Given the description of an element on the screen output the (x, y) to click on. 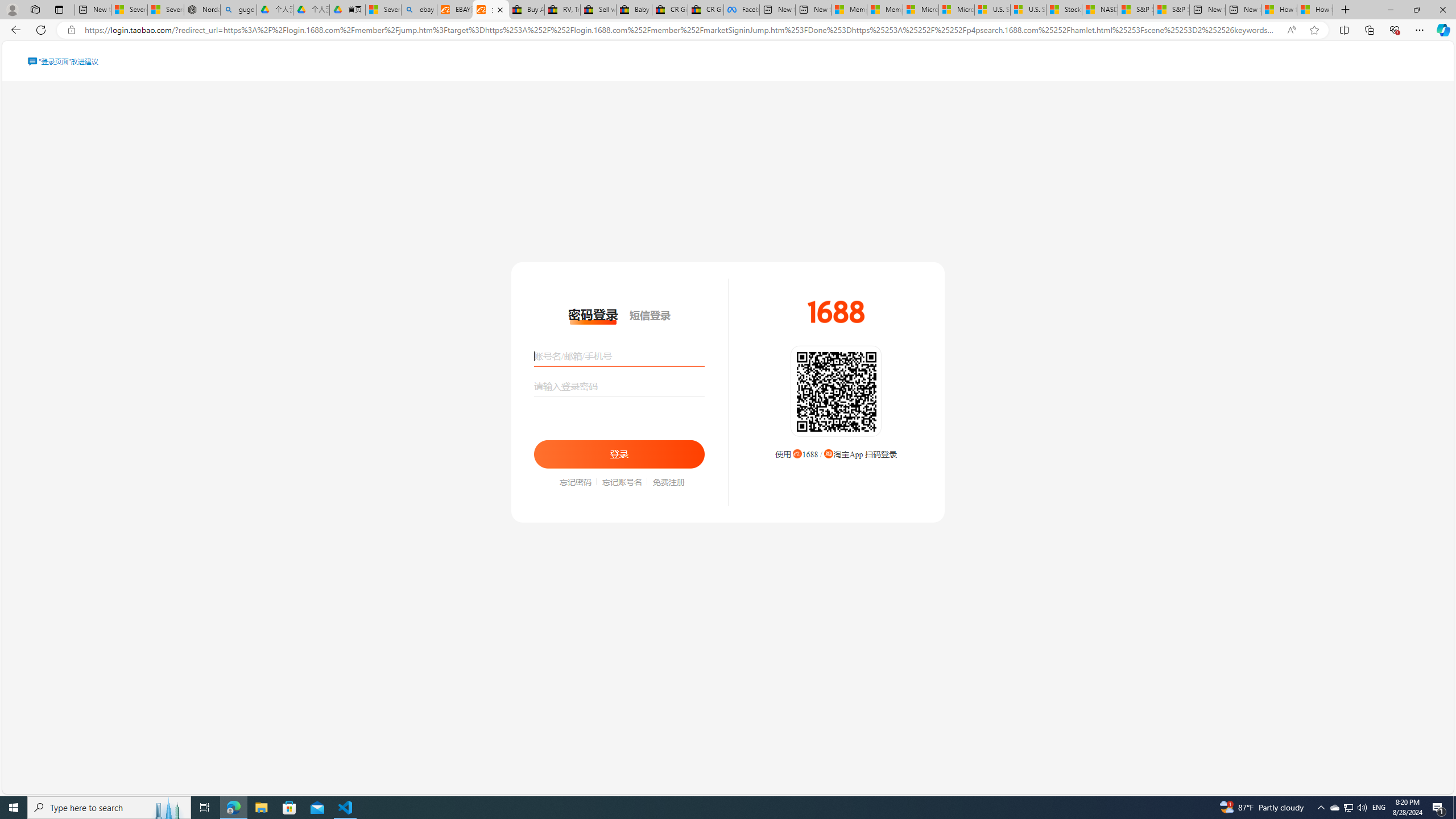
Tab actions menu (58, 9)
Split screen (1344, 29)
Sell worldwide with eBay (598, 9)
App bar (728, 29)
Refresh (40, 29)
Close tab (500, 9)
Personal Profile (12, 9)
Read aloud this page (Ctrl+Shift+U) (1291, 29)
Copilot (Ctrl+Shift+.) (1442, 29)
S&P 500, Nasdaq end lower, weighed by Nvidia dip | Watch (1170, 9)
Facebook (741, 9)
